Given the description of an element on the screen output the (x, y) to click on. 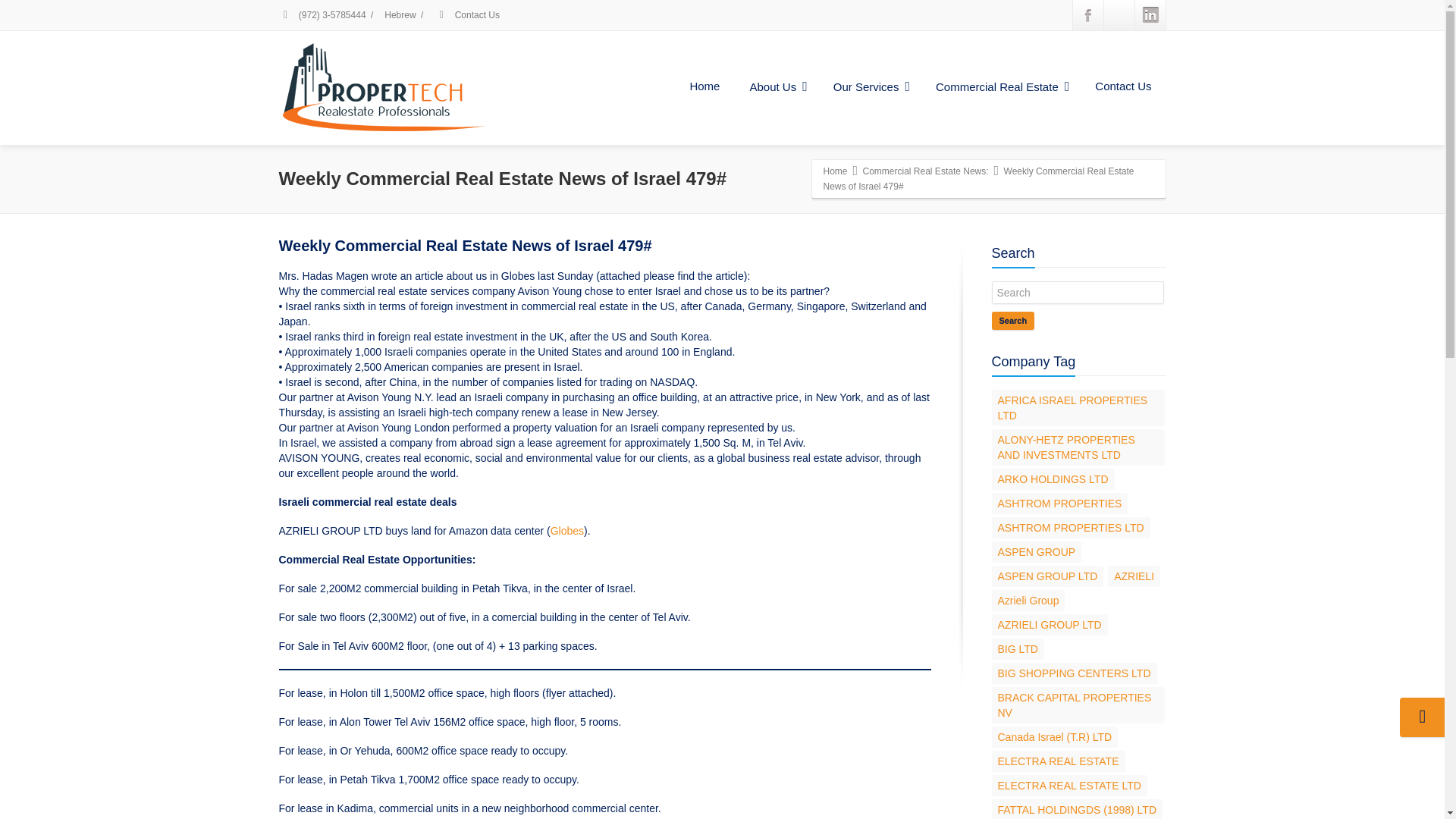
Facebook (1086, 15)
Home (704, 86)
Contact Us (1123, 86)
Twitter (1118, 15)
Contact Us (476, 14)
About Us (775, 87)
Hebrew (399, 14)
Our Services (869, 87)
Commercial Real Estate News: (925, 171)
Commercial Real Estate (1000, 87)
AFRICA ISRAEL PROPERTIES LTD (1077, 407)
Linkedin (1149, 15)
Search (1013, 321)
Home (835, 171)
Globes (566, 530)
